Given the description of an element on the screen output the (x, y) to click on. 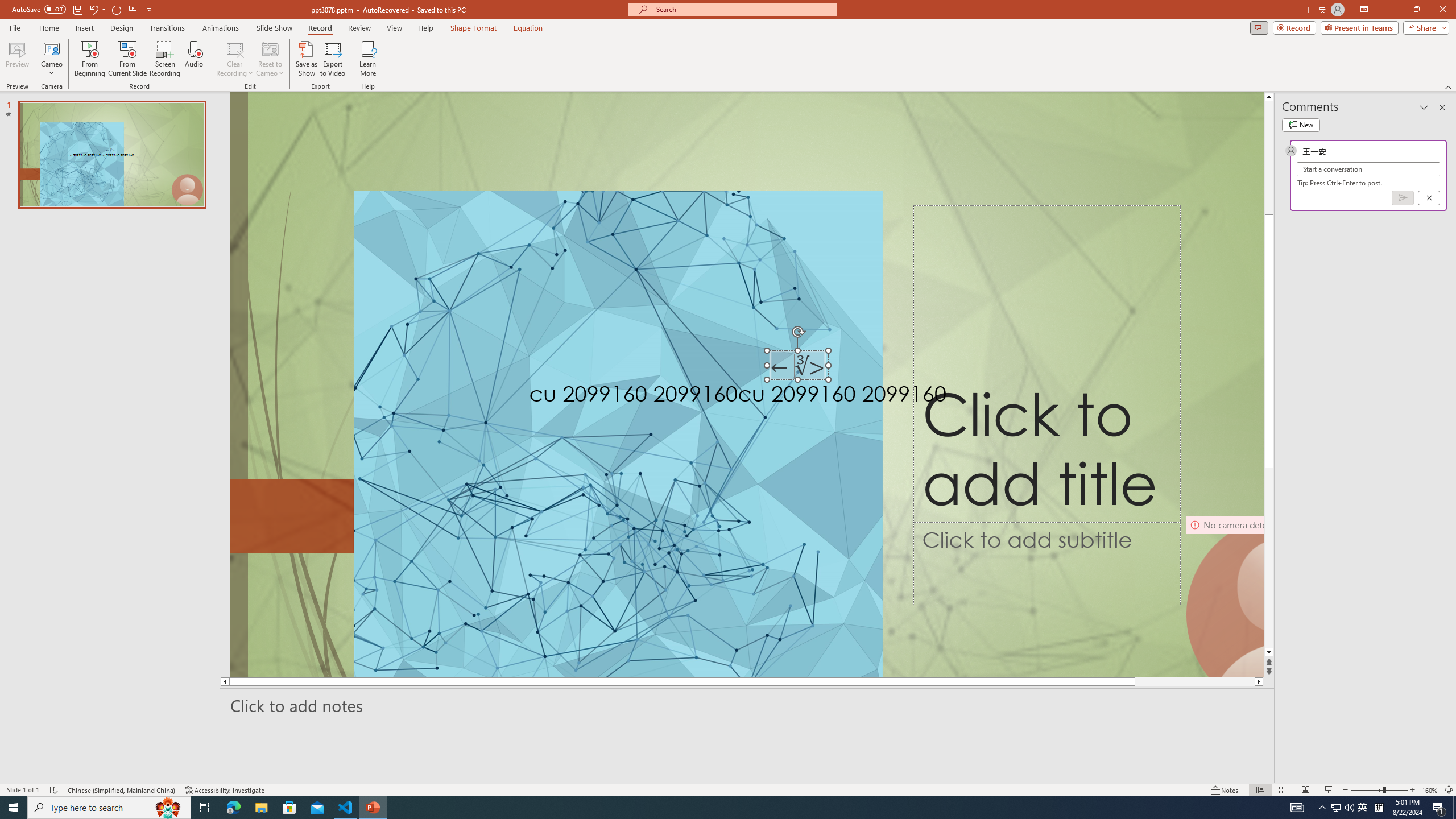
Cancel (1428, 197)
